Given the description of an element on the screen output the (x, y) to click on. 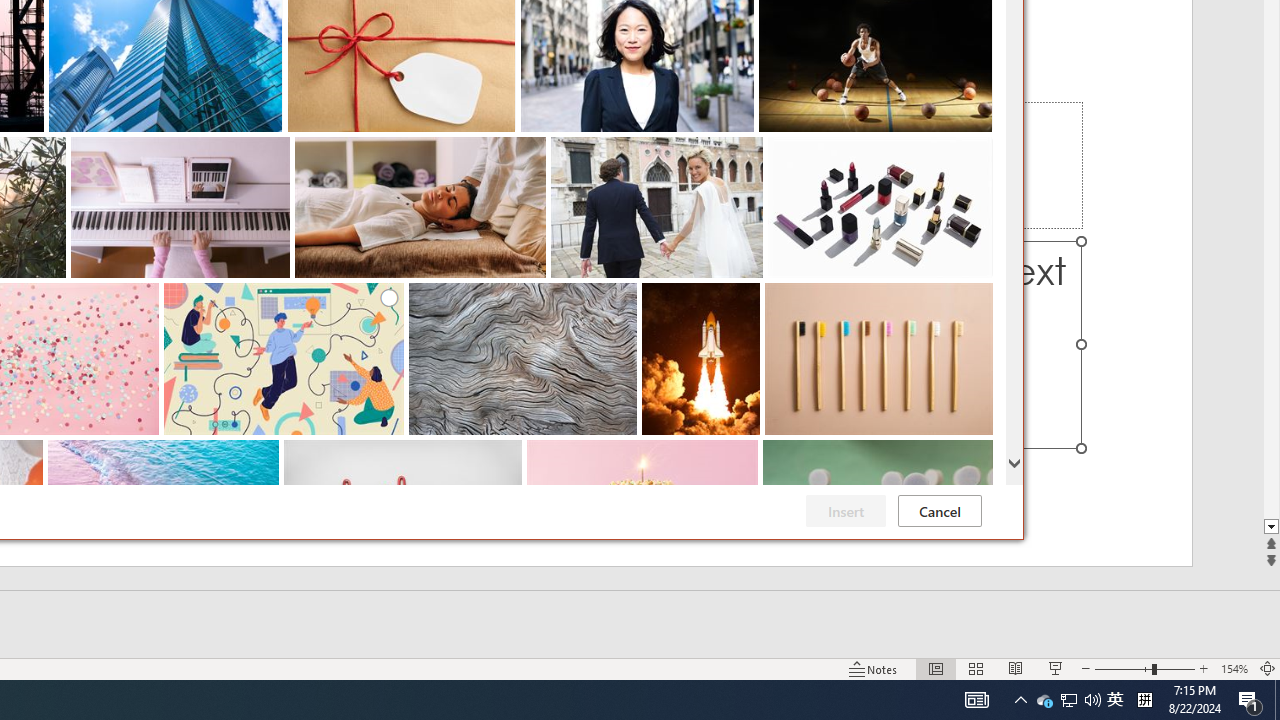
Zoom 154% (1234, 668)
